Given the description of an element on the screen output the (x, y) to click on. 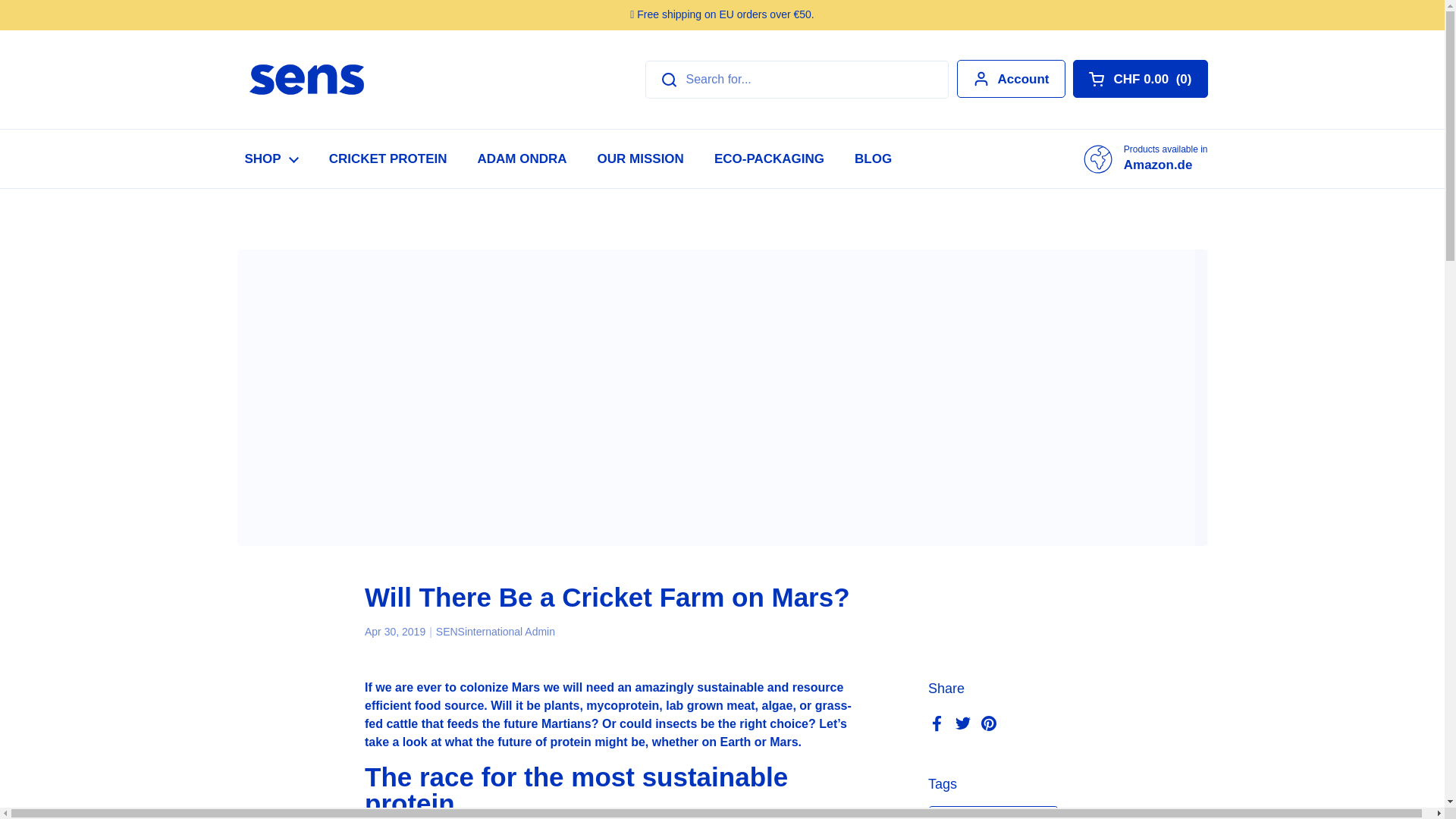
CRICKET PROTEIN (388, 158)
OUR MISSION (1145, 158)
EatSens.com (640, 158)
ECO-PACKAGING (305, 79)
Skip to content (769, 158)
BLOG (522, 158)
Account (873, 158)
Read more... (1010, 78)
